Given the description of an element on the screen output the (x, y) to click on. 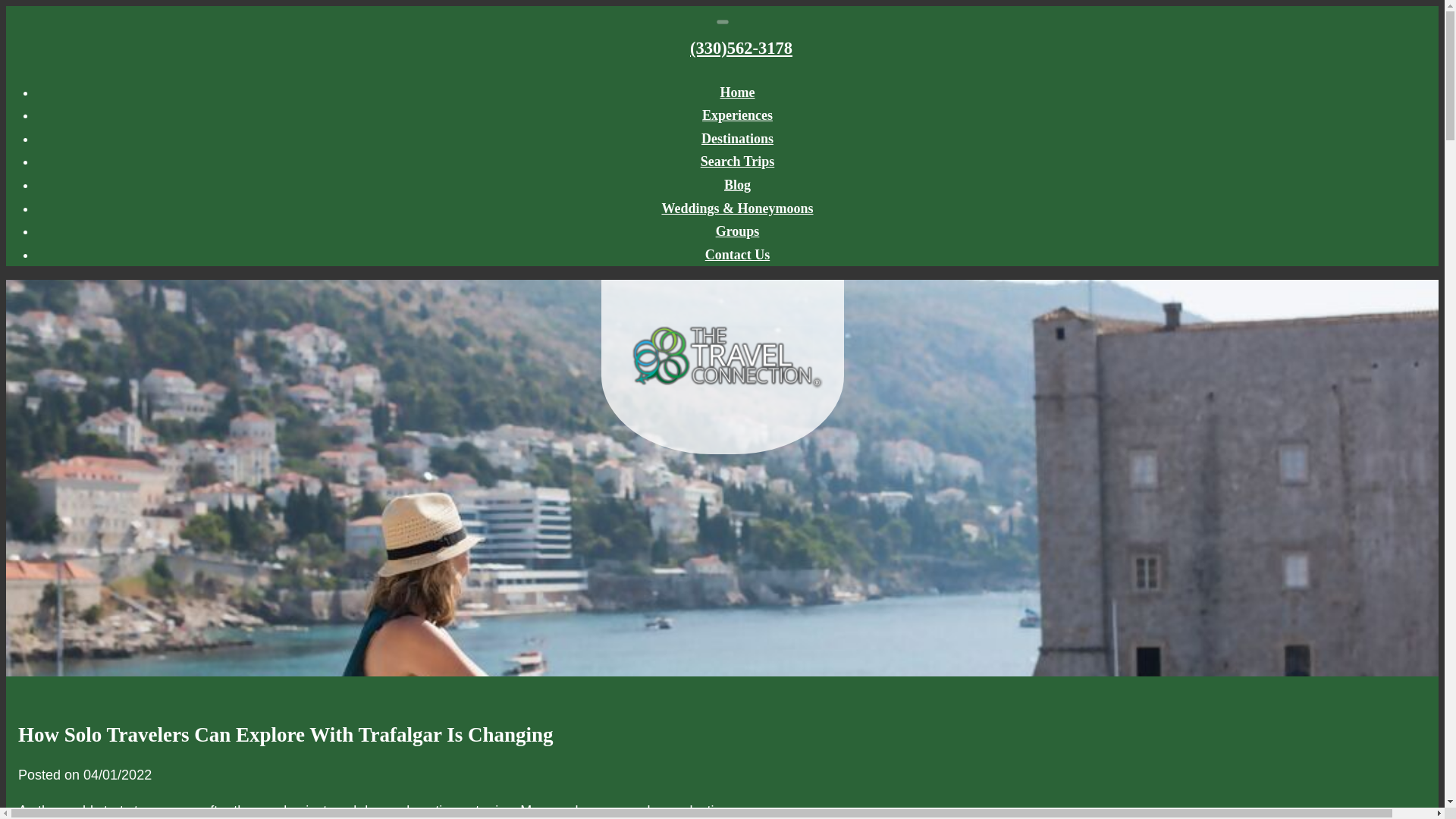
Home (737, 92)
Experiences (737, 115)
Groups (738, 231)
Toggle navigation (722, 21)
Search Trips (737, 161)
Destinations (737, 138)
Contact Us (737, 254)
